Given the description of an element on the screen output the (x, y) to click on. 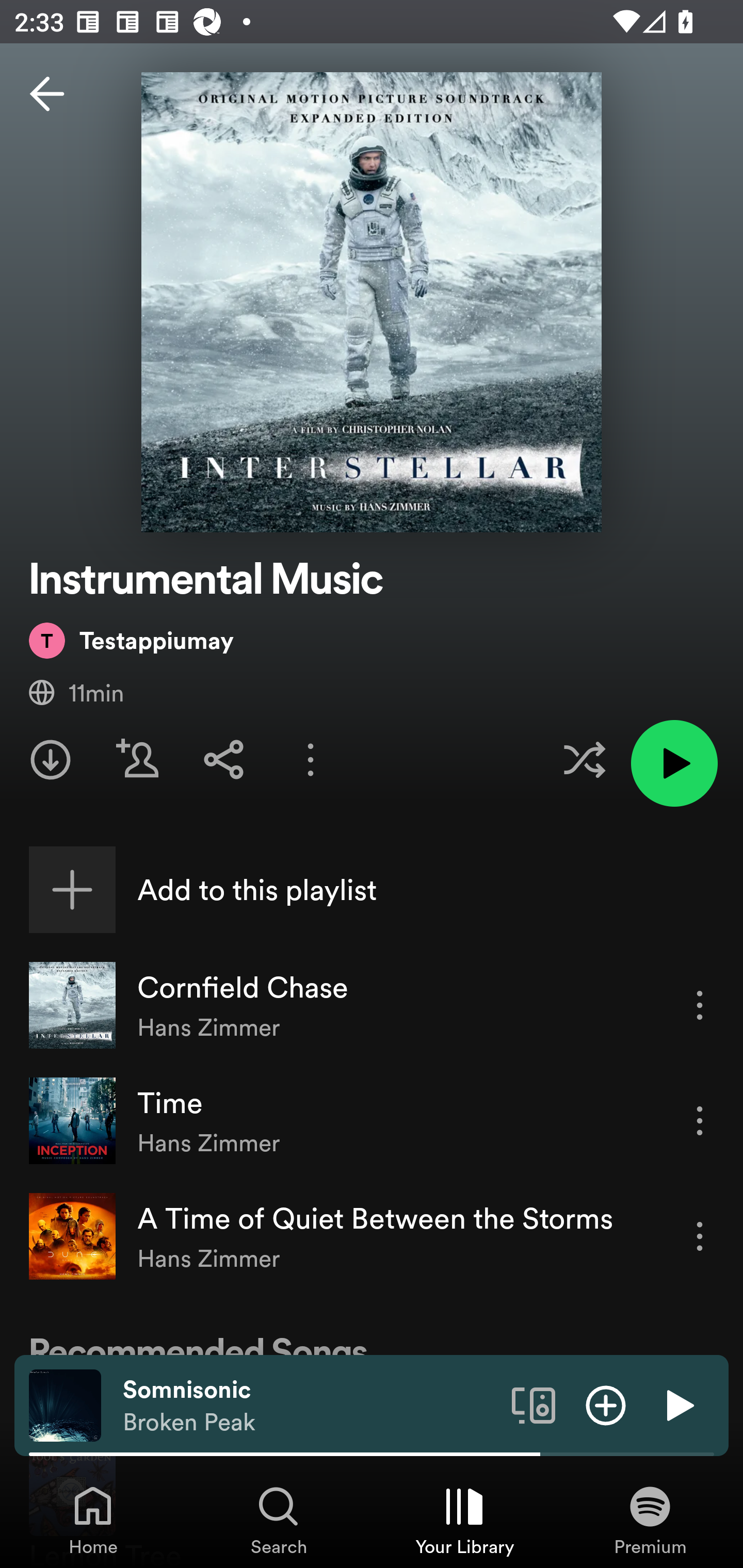
Back (46, 93)
Testappiumay (131, 640)
Download (50, 759)
Invite Friends for playlist (136, 759)
More options for playlist Instrumental Music (310, 759)
Enable shuffle for this playlist (583, 759)
Play playlist (674, 763)
Add to this playlist (371, 889)
More options for song Cornfield Chase (699, 1004)
Time Hans Zimmer More options for song Time (371, 1121)
More options for song Time (699, 1120)
Somnisonic Broken Peak (309, 1405)
The cover art of the currently playing track (64, 1404)
Connect to a device. Opens the devices menu (533, 1404)
Add item (605, 1404)
Play (677, 1404)
Home, Tab 1 of 4 Home Home (92, 1519)
Search, Tab 2 of 4 Search Search (278, 1519)
Your Library, Tab 3 of 4 Your Library Your Library (464, 1519)
Premium, Tab 4 of 4 Premium Premium (650, 1519)
